Given the description of an element on the screen output the (x, y) to click on. 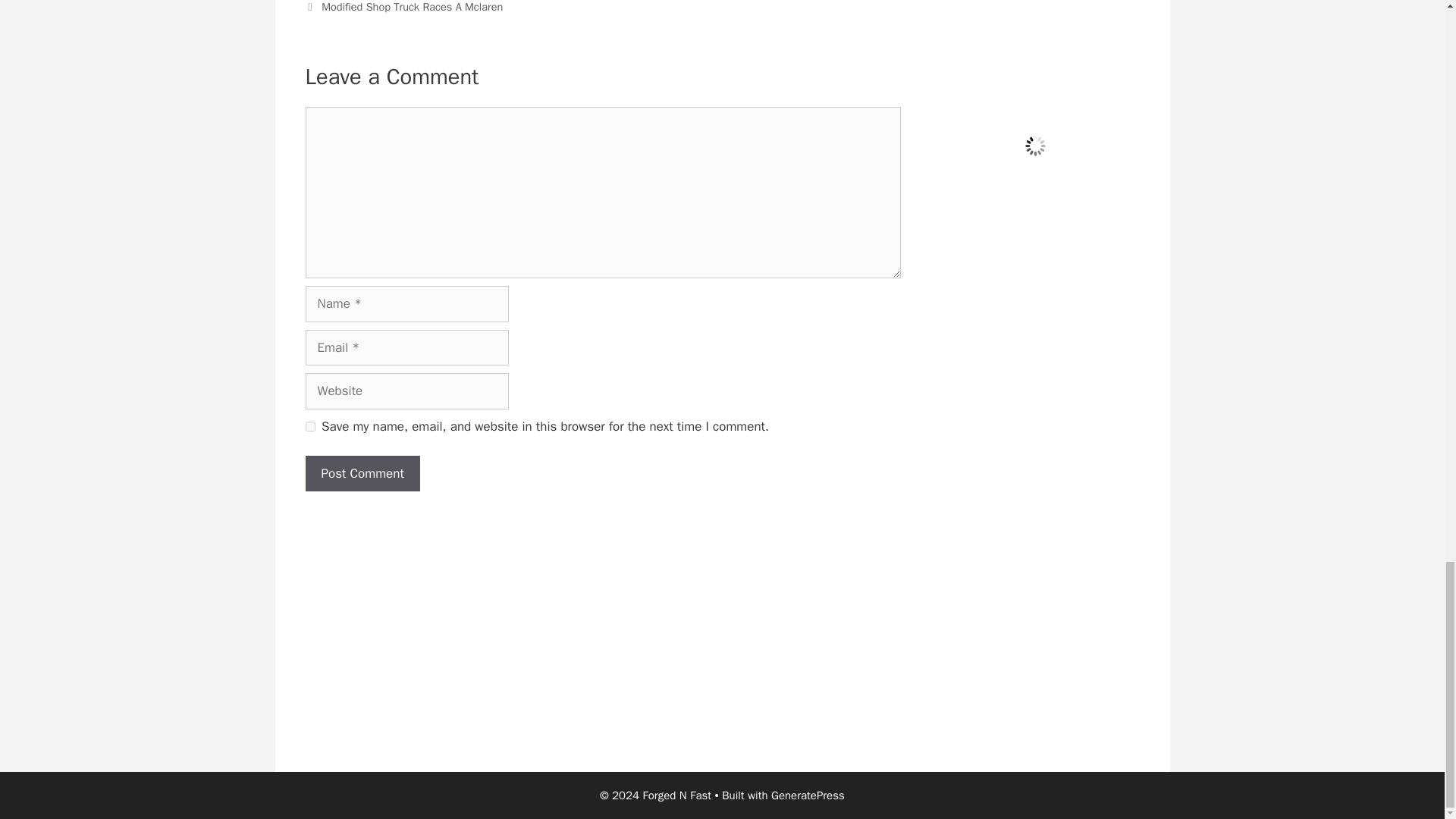
yes (309, 426)
Modified Shop Truck Races A Mclaren (411, 6)
Post Comment (361, 473)
